Given the description of an element on the screen output the (x, y) to click on. 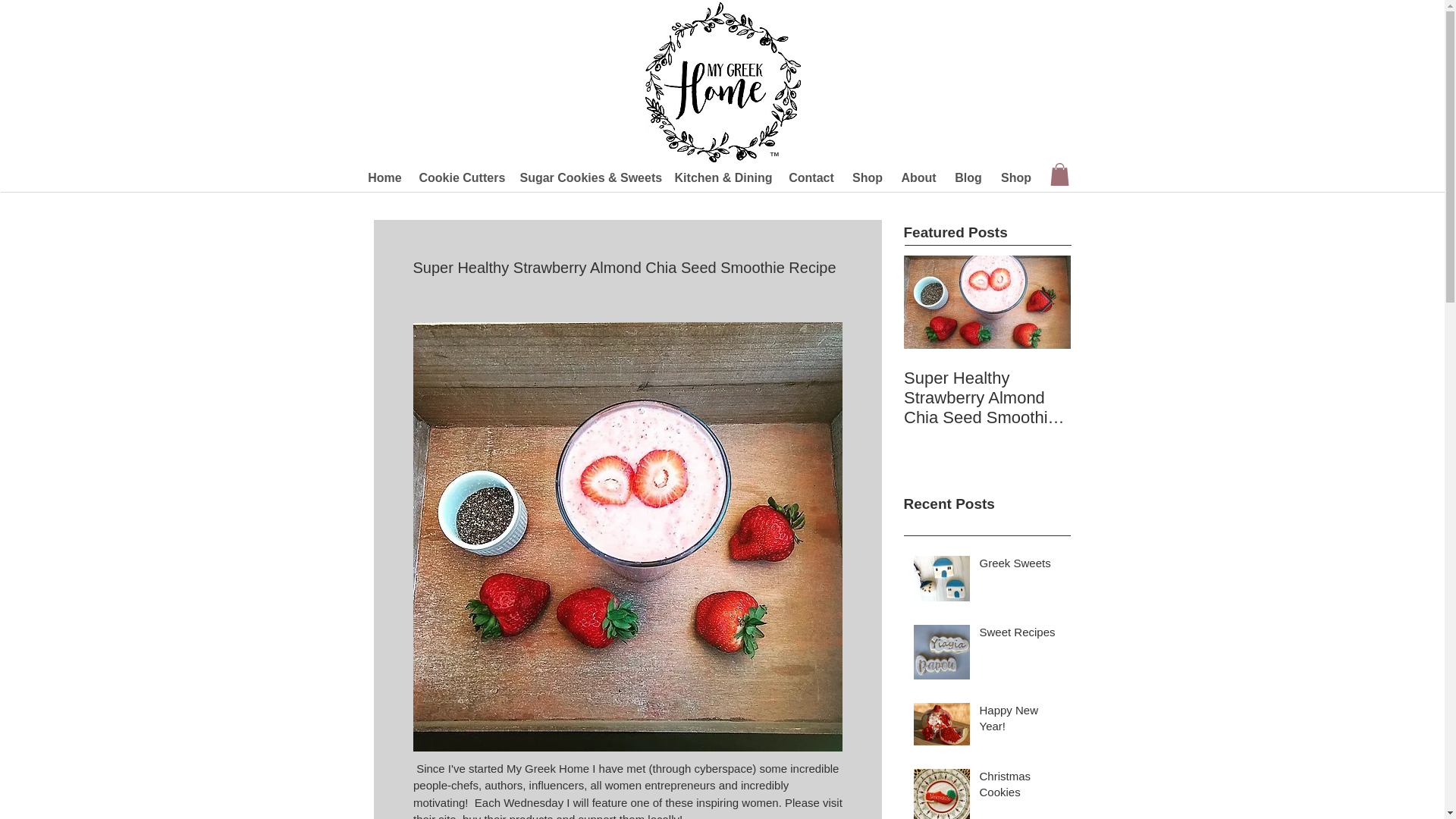
About (917, 178)
Super Healthy Strawberry Almond Chia Seed Smoothie Recipe (987, 397)
Shop (1016, 178)
Happy New Year! (1020, 720)
Healthy Snack (1153, 378)
Home (384, 178)
Christmas Cookies (1020, 786)
Blog (967, 178)
Shop (867, 178)
Sweet Recipes (1020, 635)
